Given the description of an element on the screen output the (x, y) to click on. 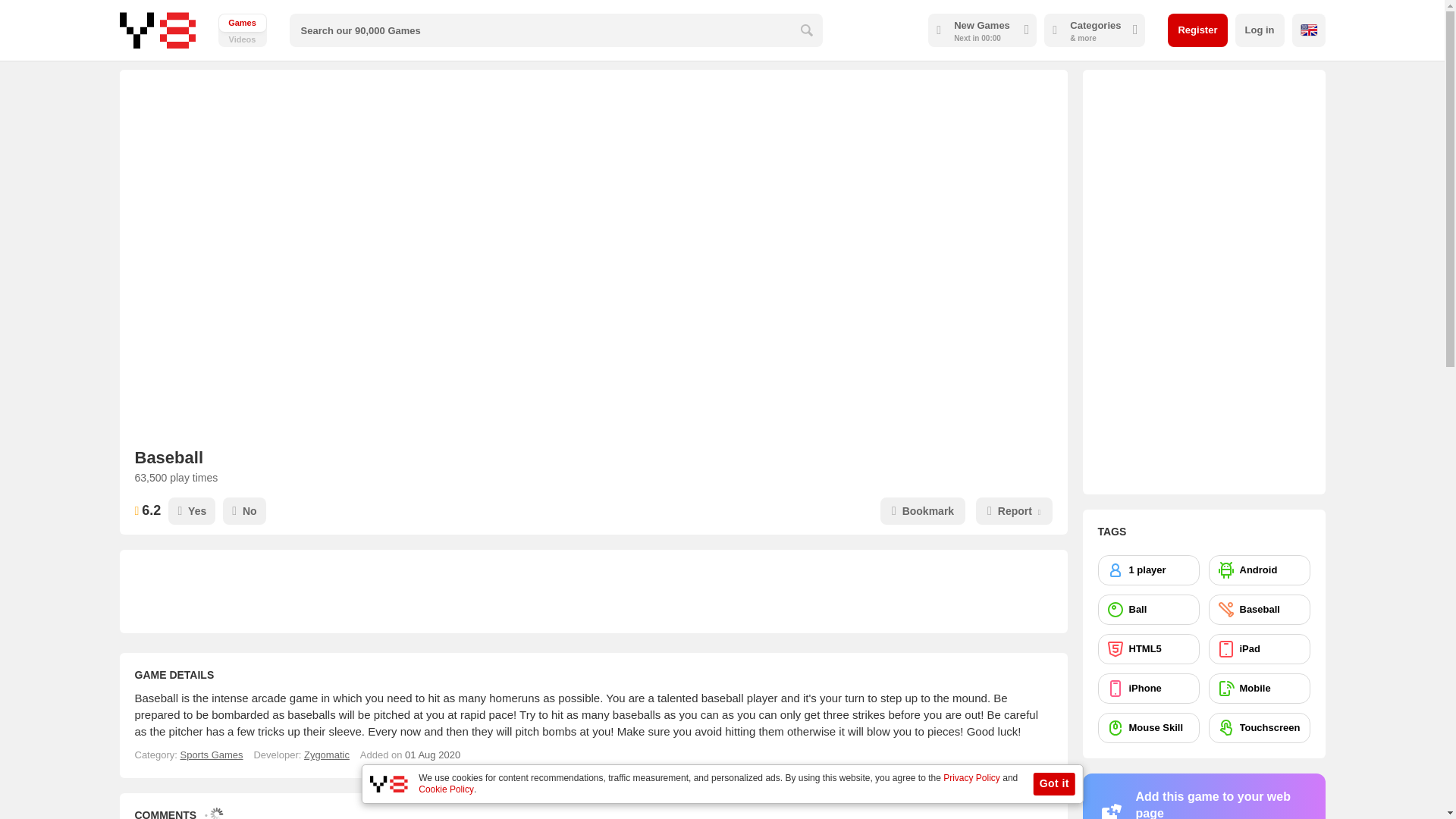
Ball (1148, 609)
Baseball (1259, 609)
1 player (1148, 570)
iPhone (1148, 688)
Register (1197, 29)
Log in (1259, 29)
Sports (211, 754)
Videos (242, 29)
Mouse Skill (1148, 727)
Touchscreen (1259, 727)
iPad (1259, 648)
Android (1259, 570)
HTML5 (1148, 648)
Privacy Policy (971, 778)
